Given the description of an element on the screen output the (x, y) to click on. 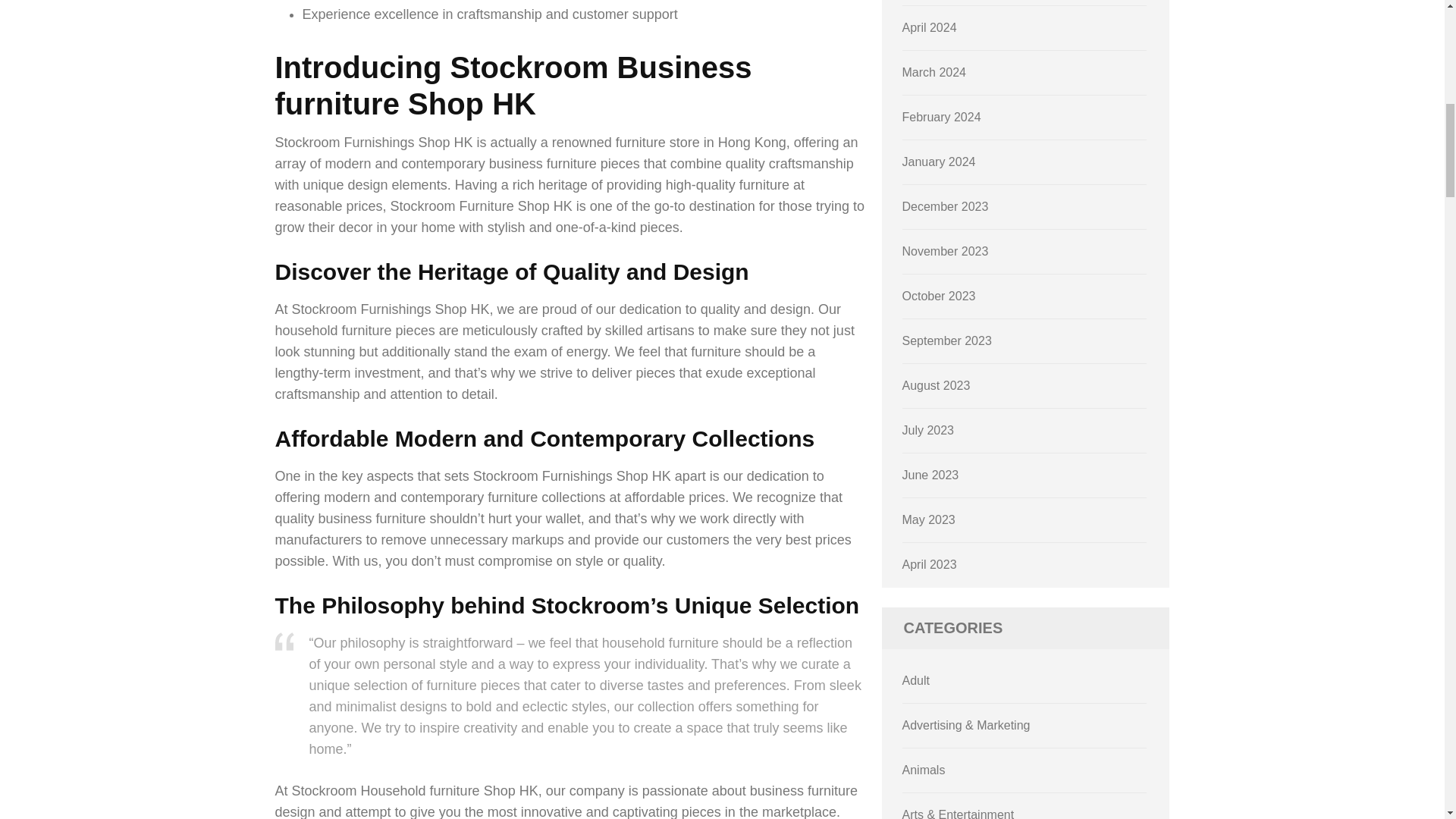
June 2023 (930, 474)
March 2024 (934, 72)
September 2023 (946, 340)
December 2023 (945, 205)
July 2023 (928, 430)
Adult (916, 680)
April 2024 (929, 27)
February 2024 (941, 116)
May 2023 (928, 519)
October 2023 (938, 295)
April 2023 (929, 563)
August 2023 (936, 385)
November 2023 (945, 250)
January 2024 (938, 161)
